Given the description of an element on the screen output the (x, y) to click on. 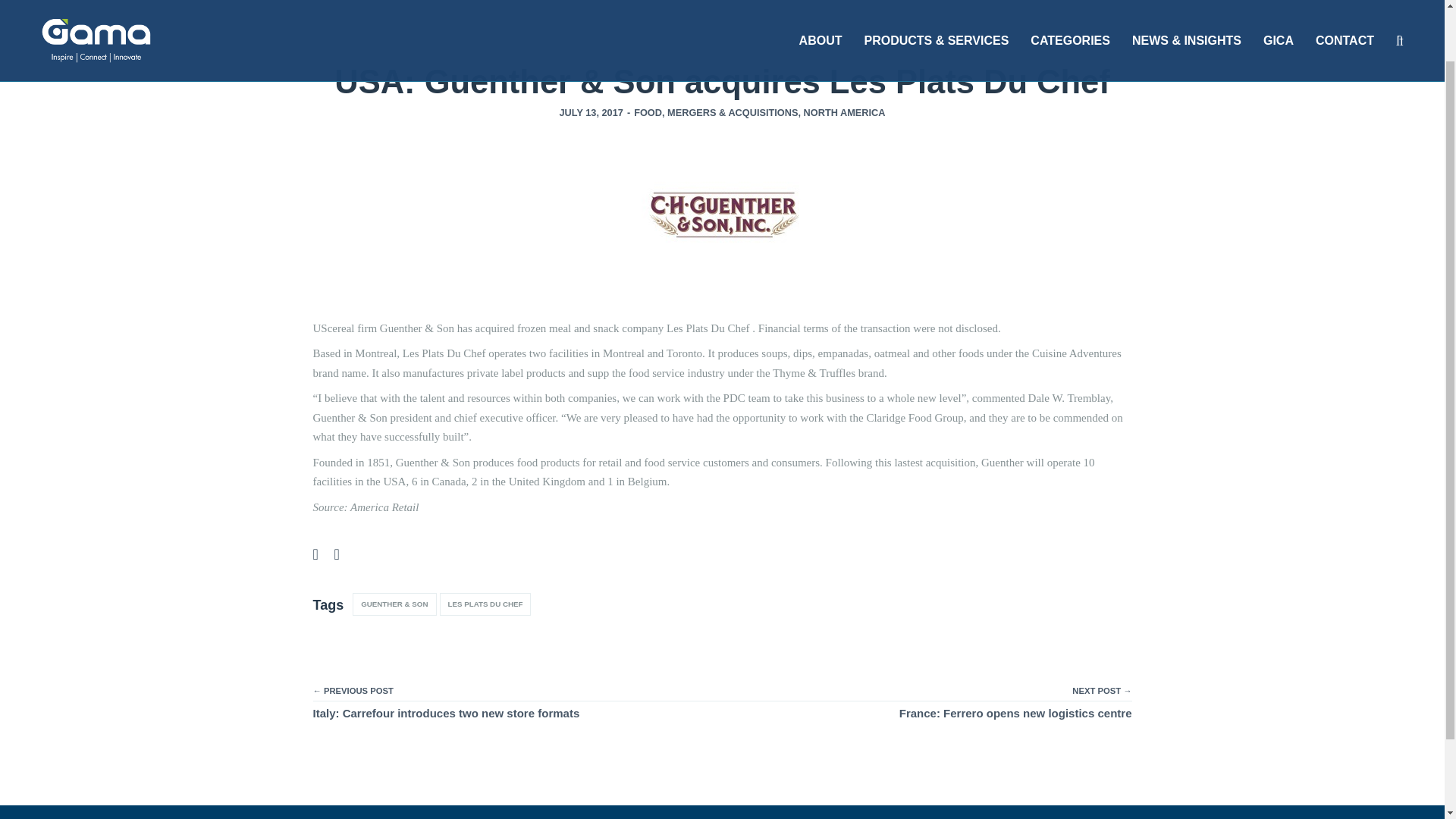
ABOUT (821, 10)
CATEGORIES (1070, 10)
